Given the description of an element on the screen output the (x, y) to click on. 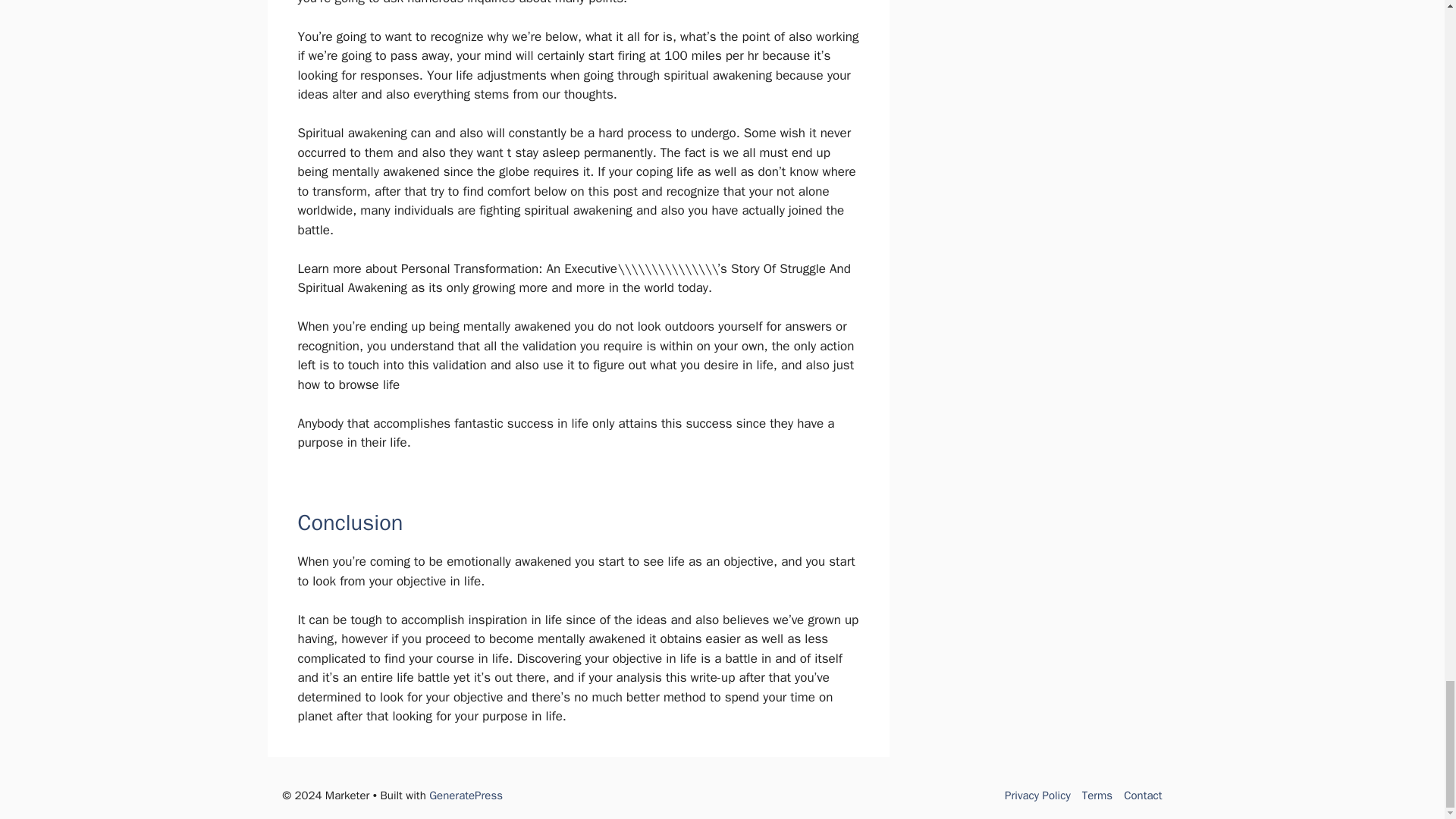
GeneratePress (465, 795)
